Given the description of an element on the screen output the (x, y) to click on. 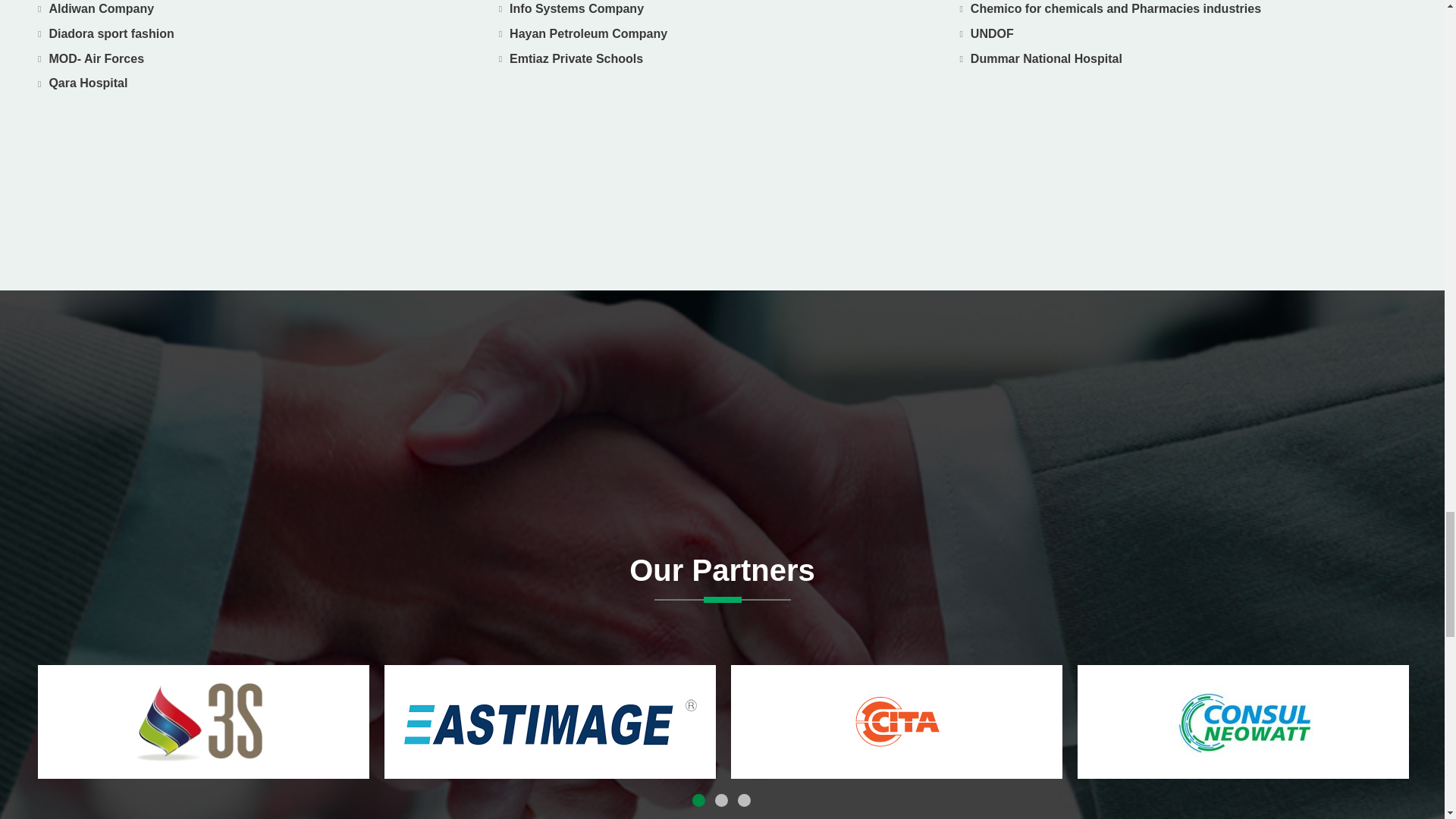
3 (744, 801)
2 (721, 801)
1 (698, 801)
